Given the description of an element on the screen output the (x, y) to click on. 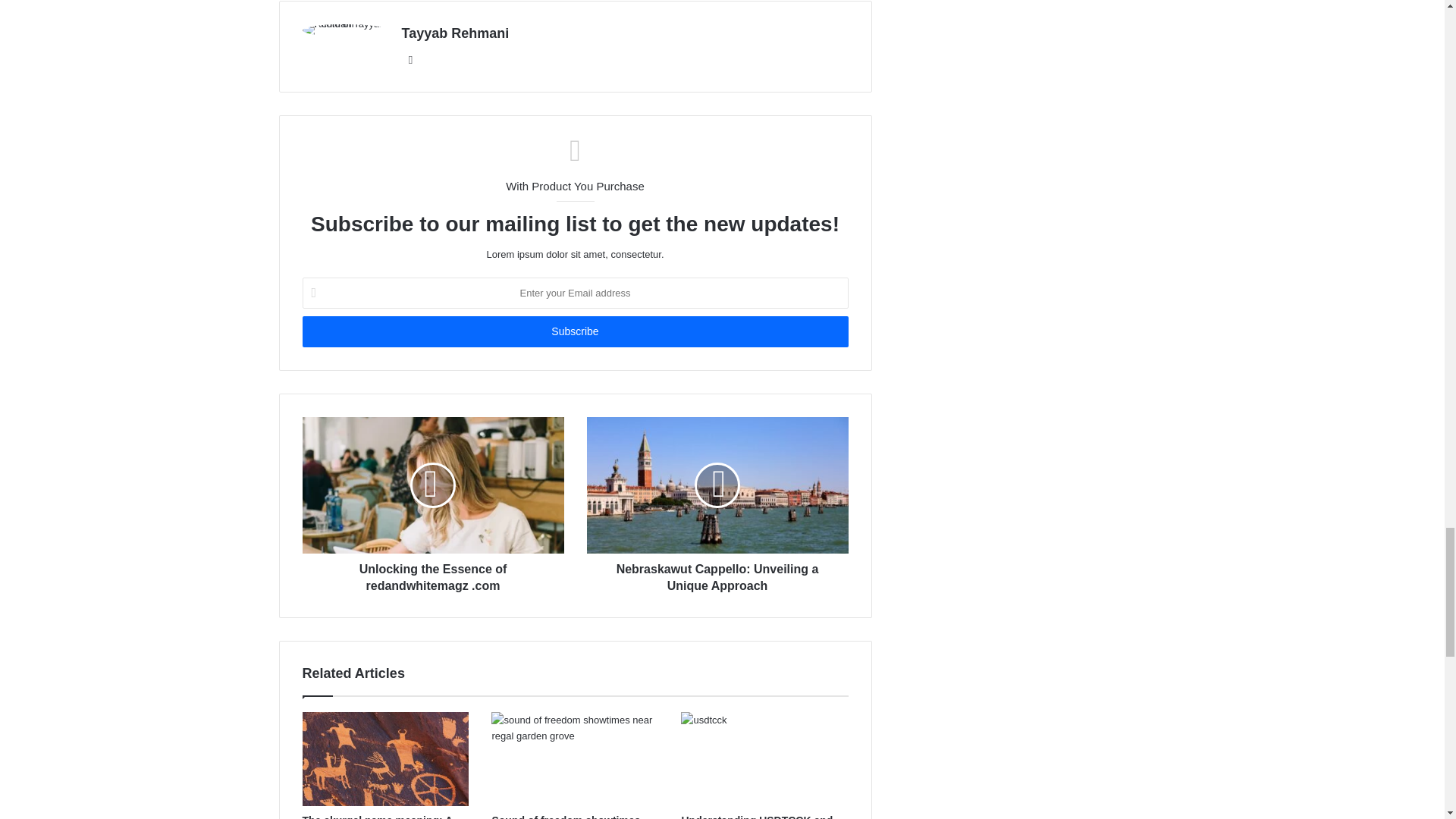
Subscribe (574, 331)
